Given the description of an element on the screen output the (x, y) to click on. 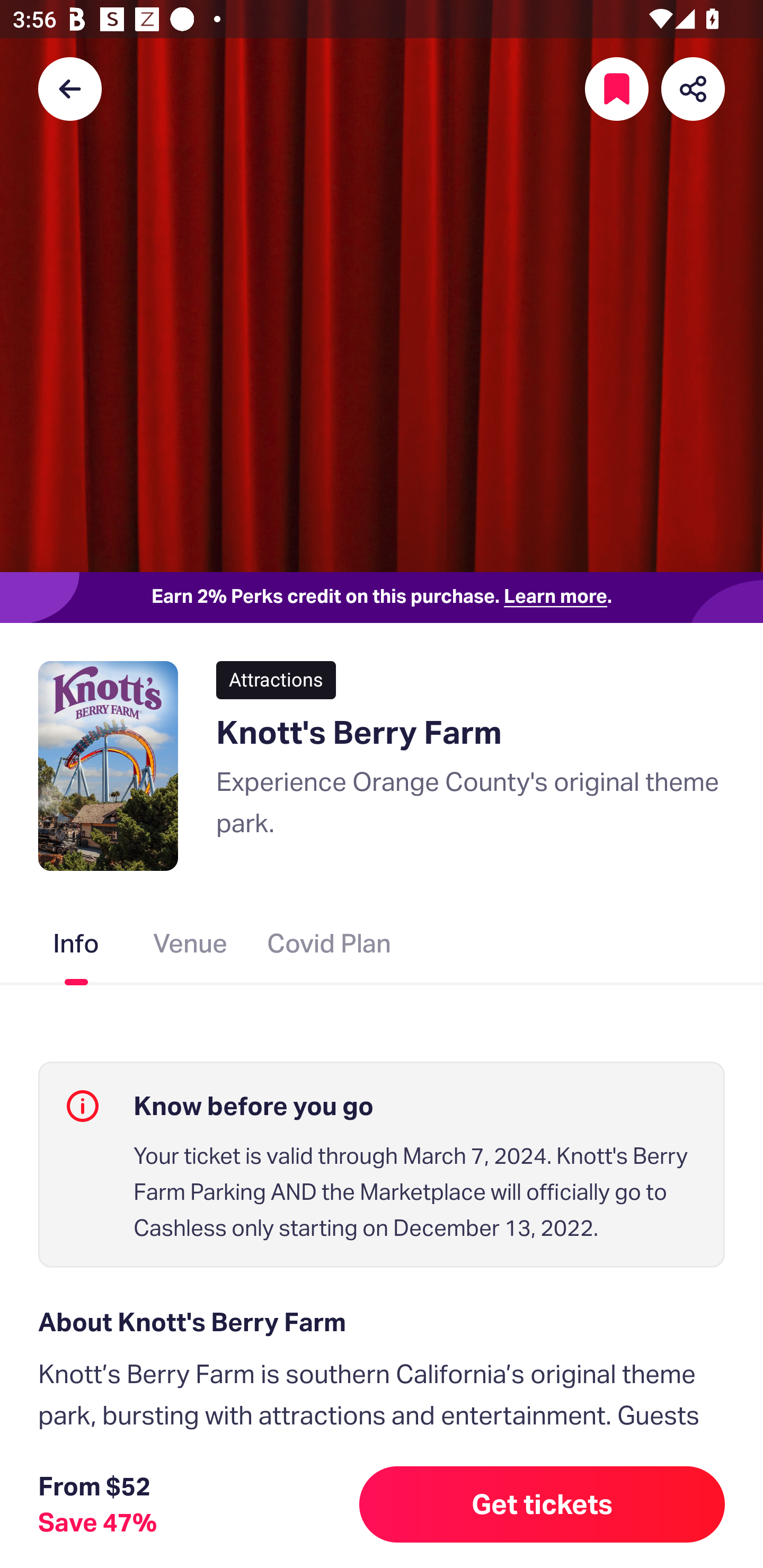
Earn 2% Perks credit on this purchase. Learn more. (381, 597)
Venue (190, 946)
Covid Plan (328, 946)
About Knott's Berry Farm (381, 1322)
Get tickets (541, 1504)
